Given the description of an element on the screen output the (x, y) to click on. 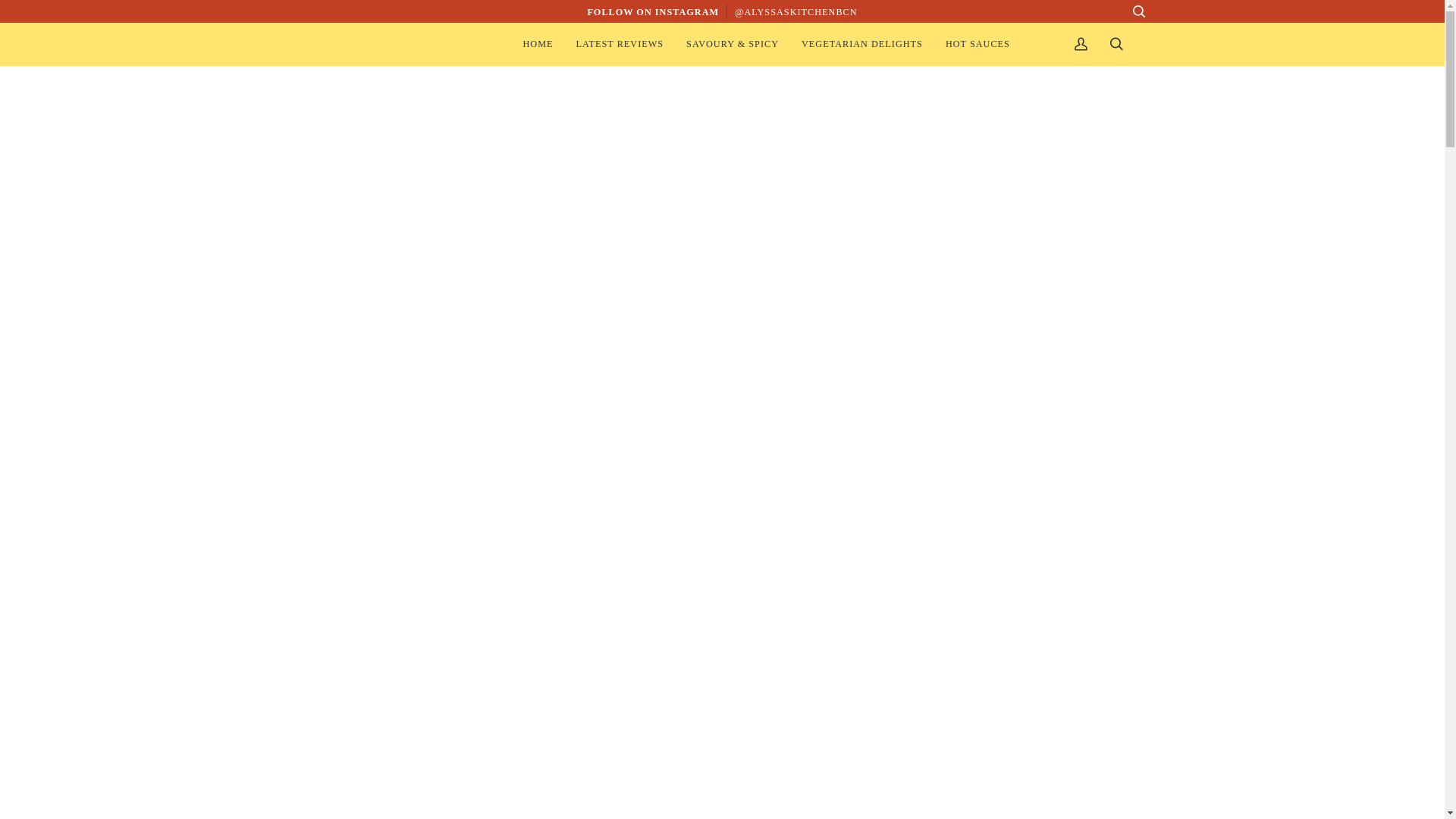
HOT SAUCES (978, 44)
HOME (537, 44)
LATEST REVIEWS (619, 44)
VEGETARIAN DELIGHTS (862, 44)
